Given the description of an element on the screen output the (x, y) to click on. 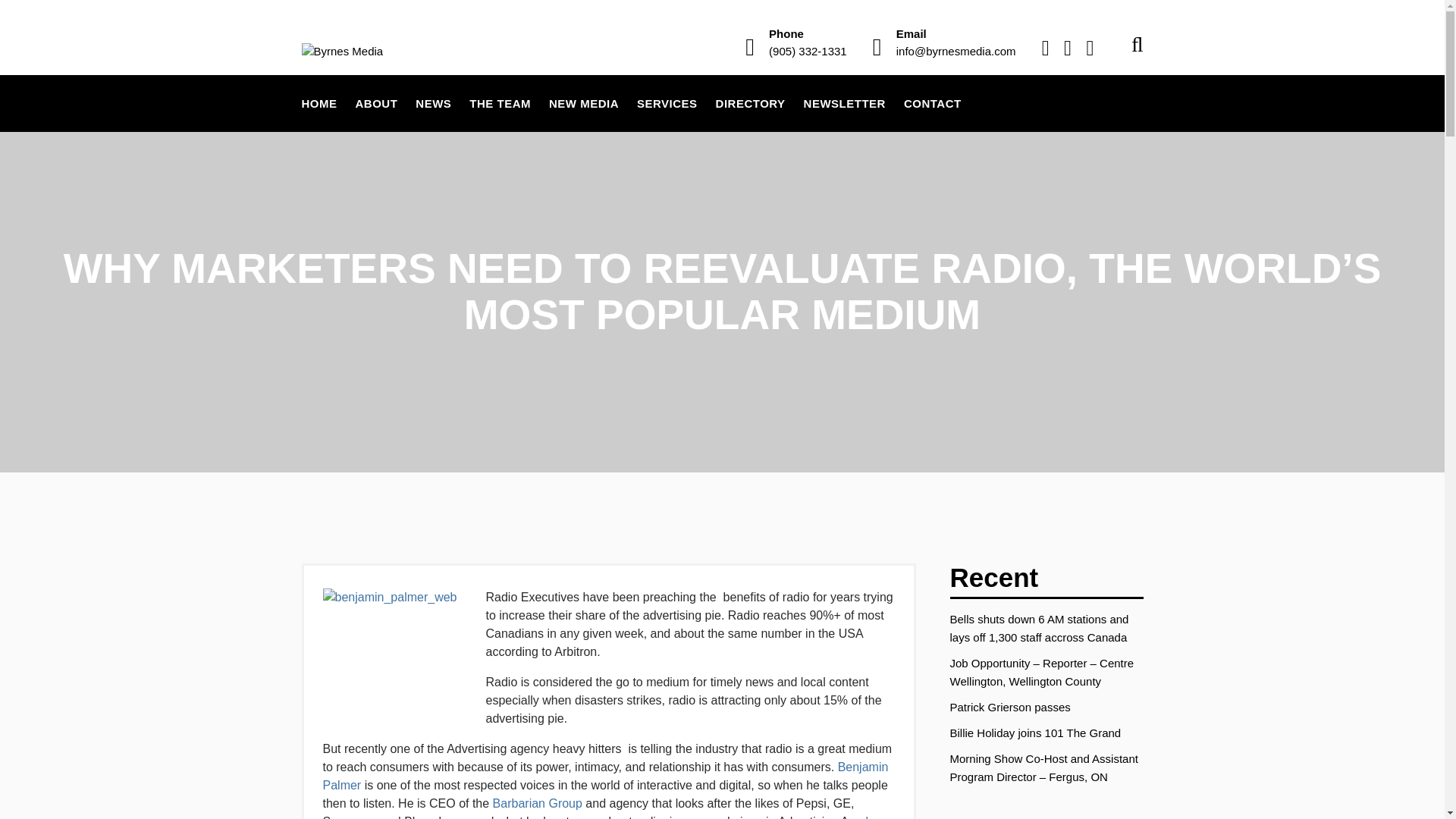
About (376, 103)
Directory (750, 103)
NEW MEDIA (583, 103)
NEWSLETTER (844, 103)
ABOUT (376, 103)
THE TEAM (500, 103)
Barbarian Group (537, 802)
NEWS (433, 103)
DIRECTORY (750, 103)
